Given the description of an element on the screen output the (x, y) to click on. 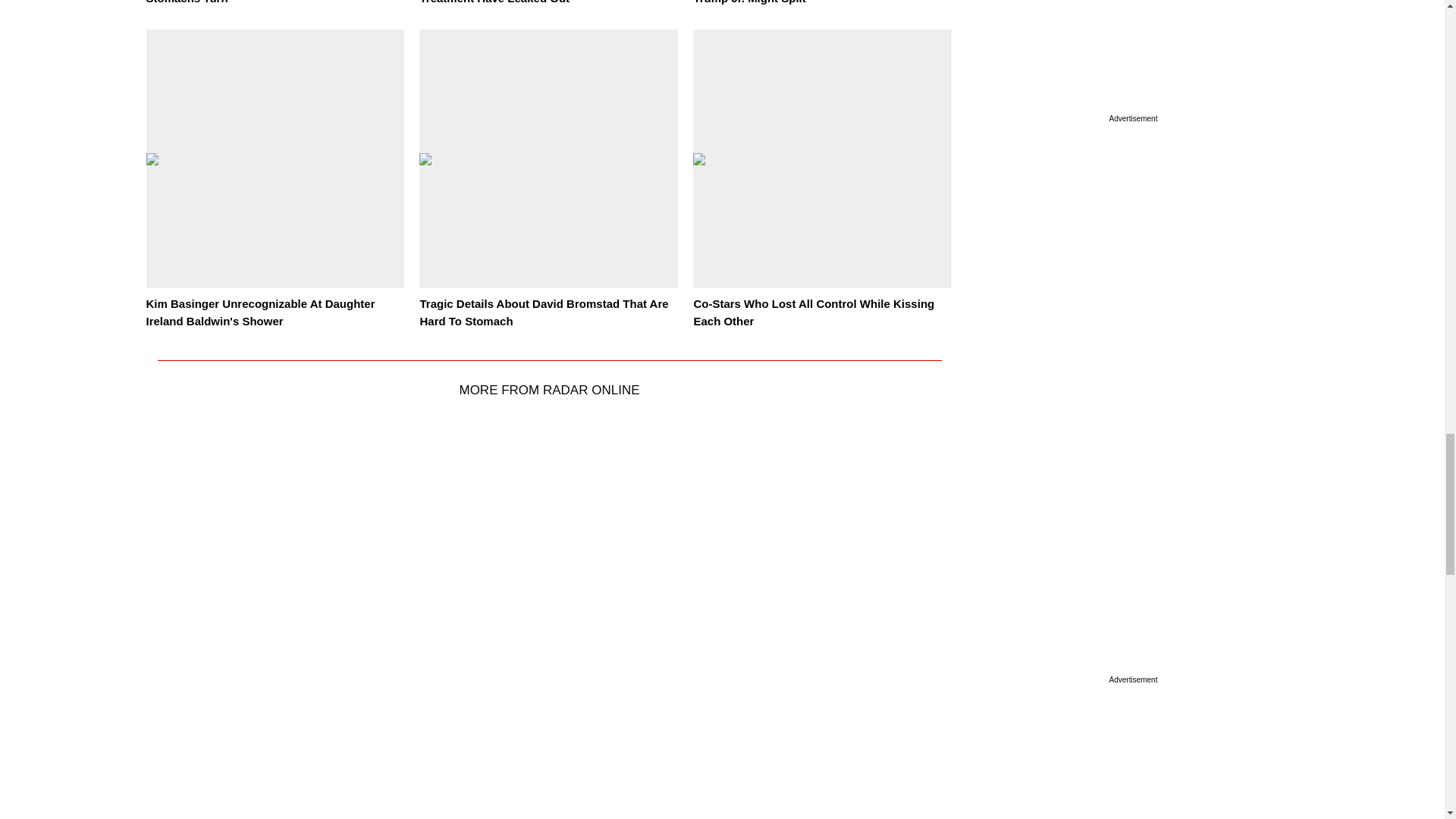
Twitch Boss' Autopsy Results Made Our Stomachs Turn (253, 2)
Tragic Details About David Bromstad That Are Hard To Stomach (543, 312)
